Given the description of an element on the screen output the (x, y) to click on. 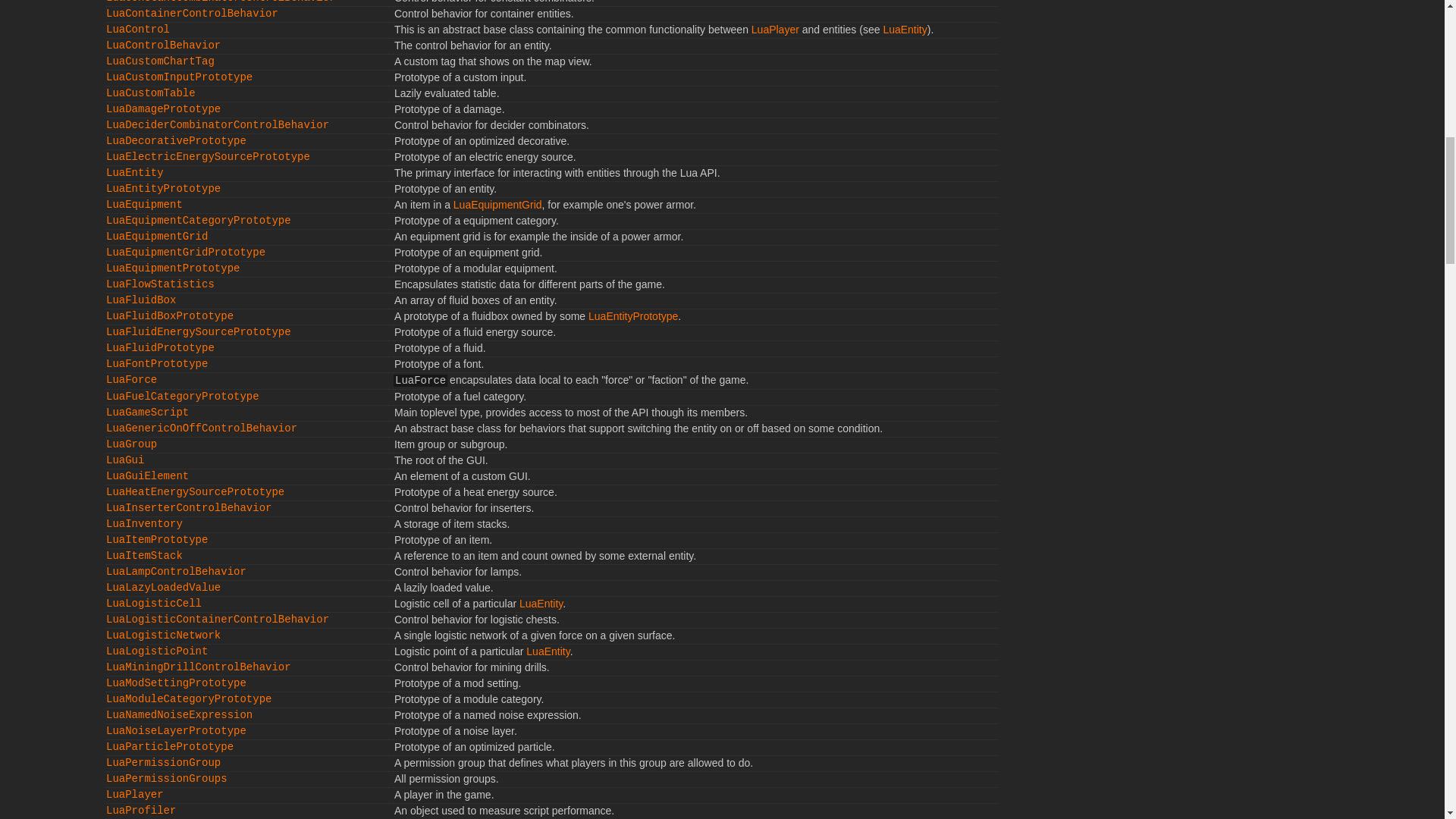
LuaConstantCombinatorControlBehavior (220, 2)
